Given the description of an element on the screen output the (x, y) to click on. 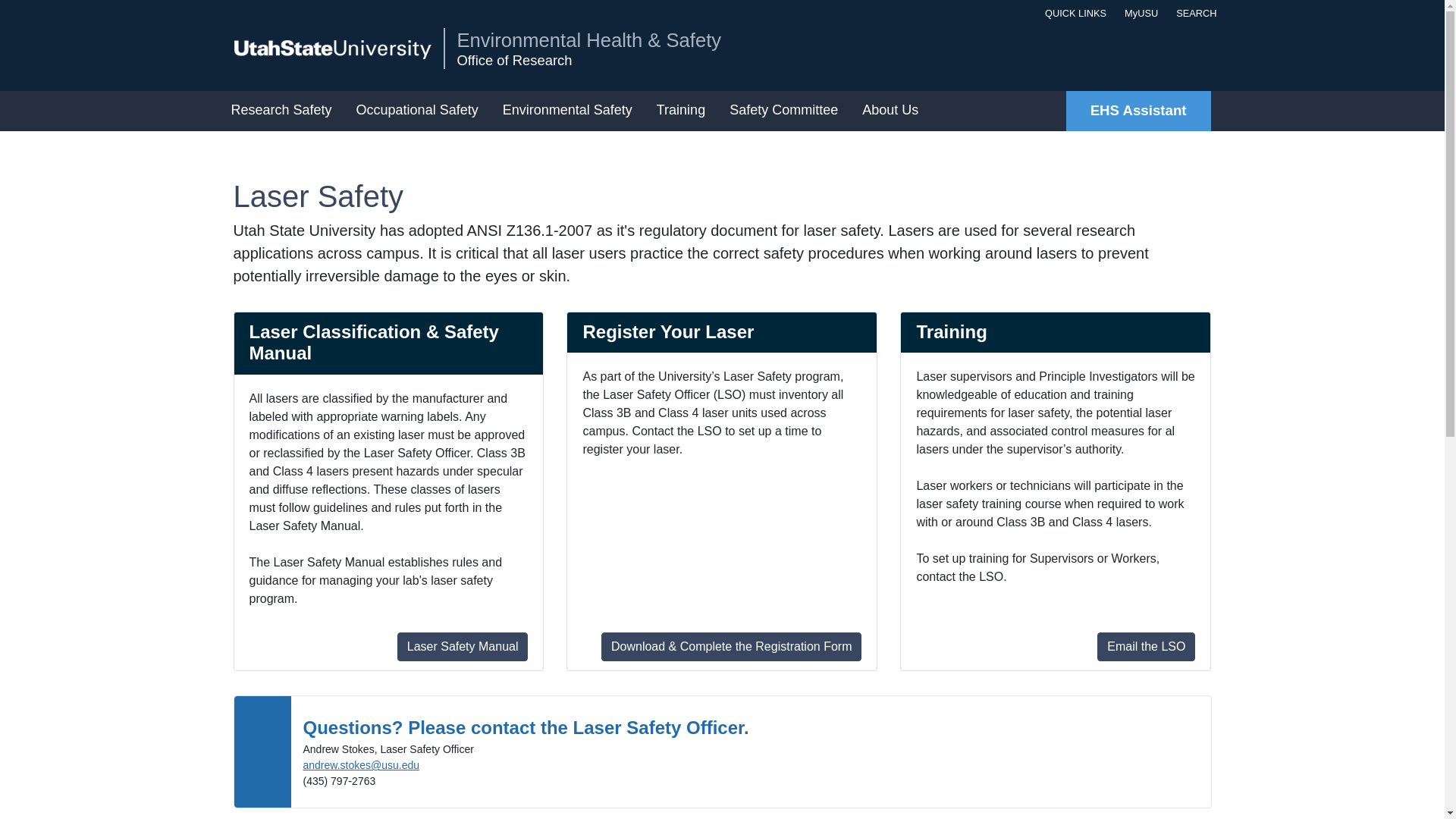
SEARCH (1193, 13)
QUICK LINKS (1072, 13)
MyUSU (1137, 13)
Office of Research (588, 60)
Environmental Safety (570, 110)
Occupational Safety (420, 110)
Research Safety (283, 110)
